Given the description of an element on the screen output the (x, y) to click on. 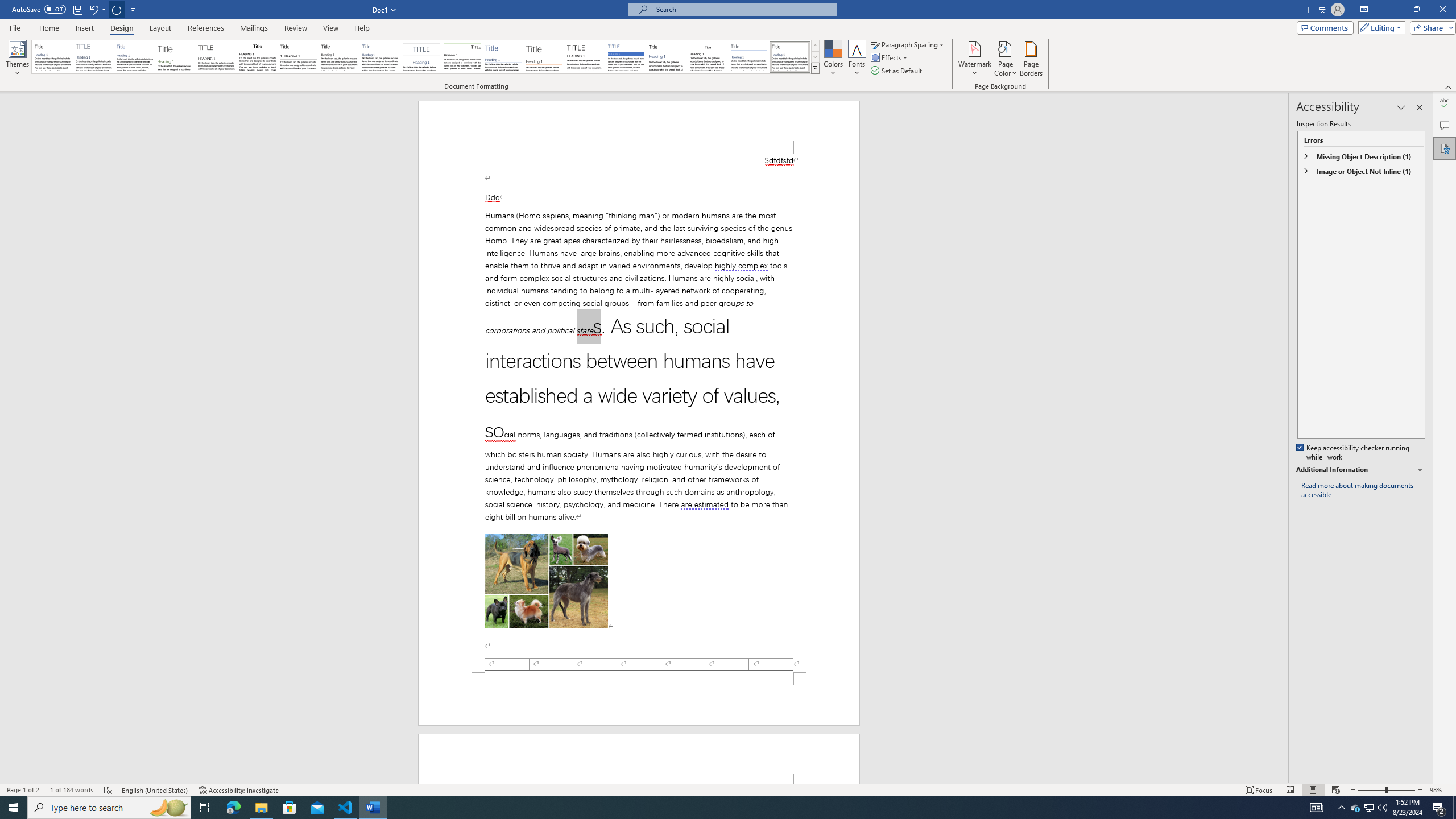
Shaded (625, 56)
Page Color (1005, 58)
Black & White (Classic) (257, 56)
Keep accessibility checker running while I work (1353, 452)
Black & White (Numbered) (298, 56)
AutomationID: QuickStylesSets (425, 56)
Style Set (814, 67)
